Given the description of an element on the screen output the (x, y) to click on. 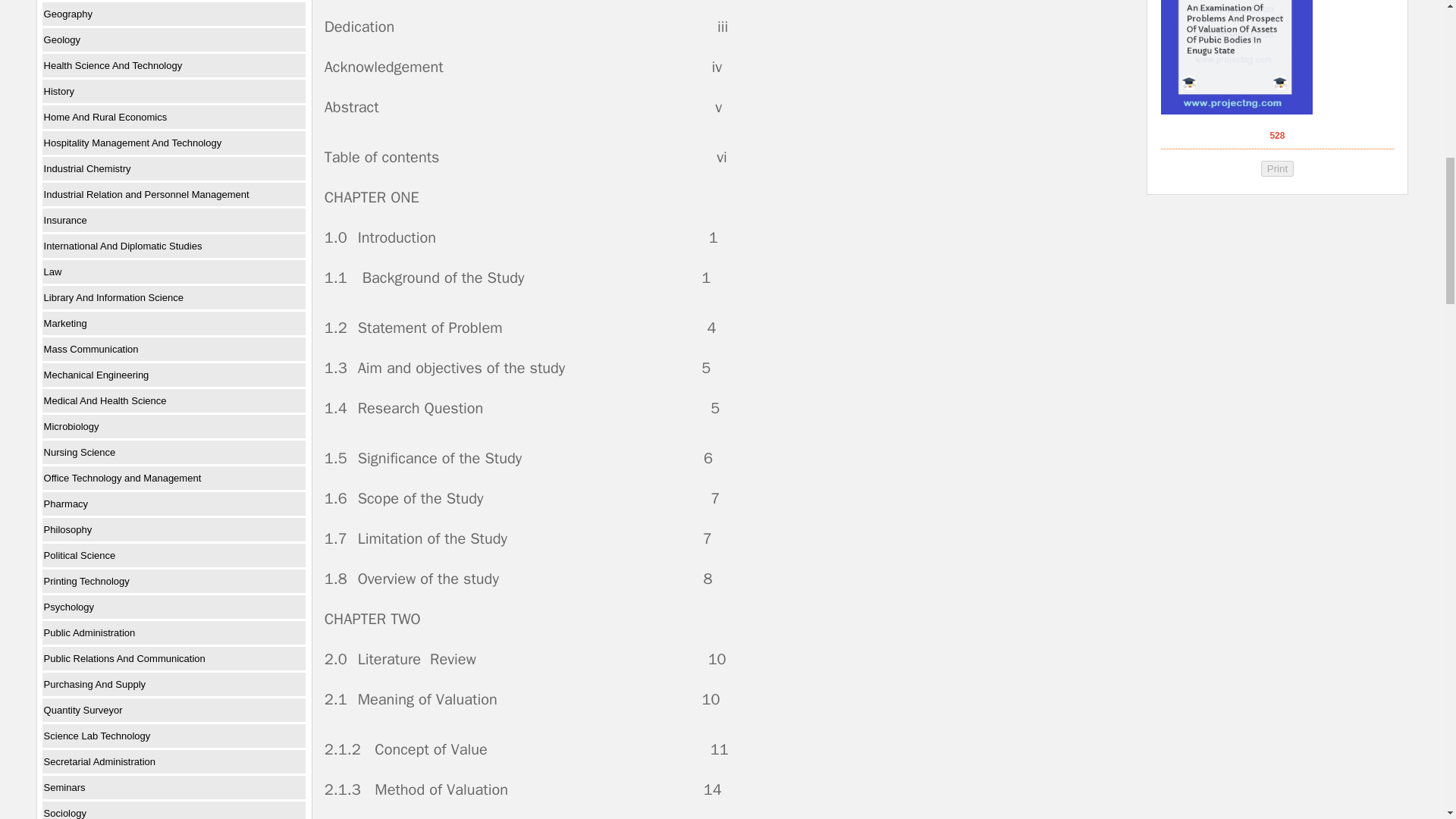
Print (1277, 168)
